Given the description of an element on the screen output the (x, y) to click on. 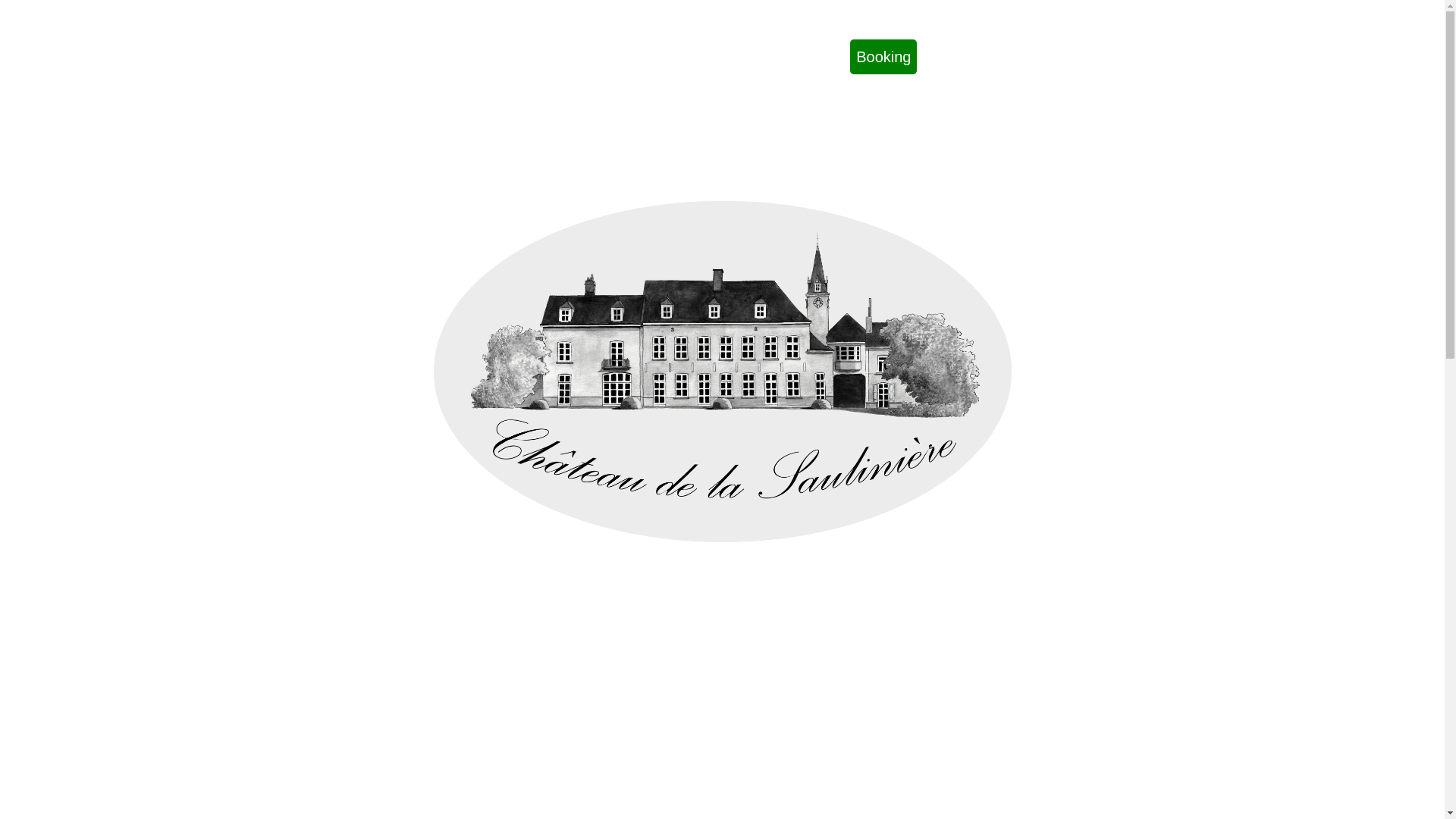
Contact Element type: text (787, 56)
Magnolia Room Element type: text (623, 56)
Activities Element type: text (719, 56)
Booking Element type: text (883, 56)
